Given the description of an element on the screen output the (x, y) to click on. 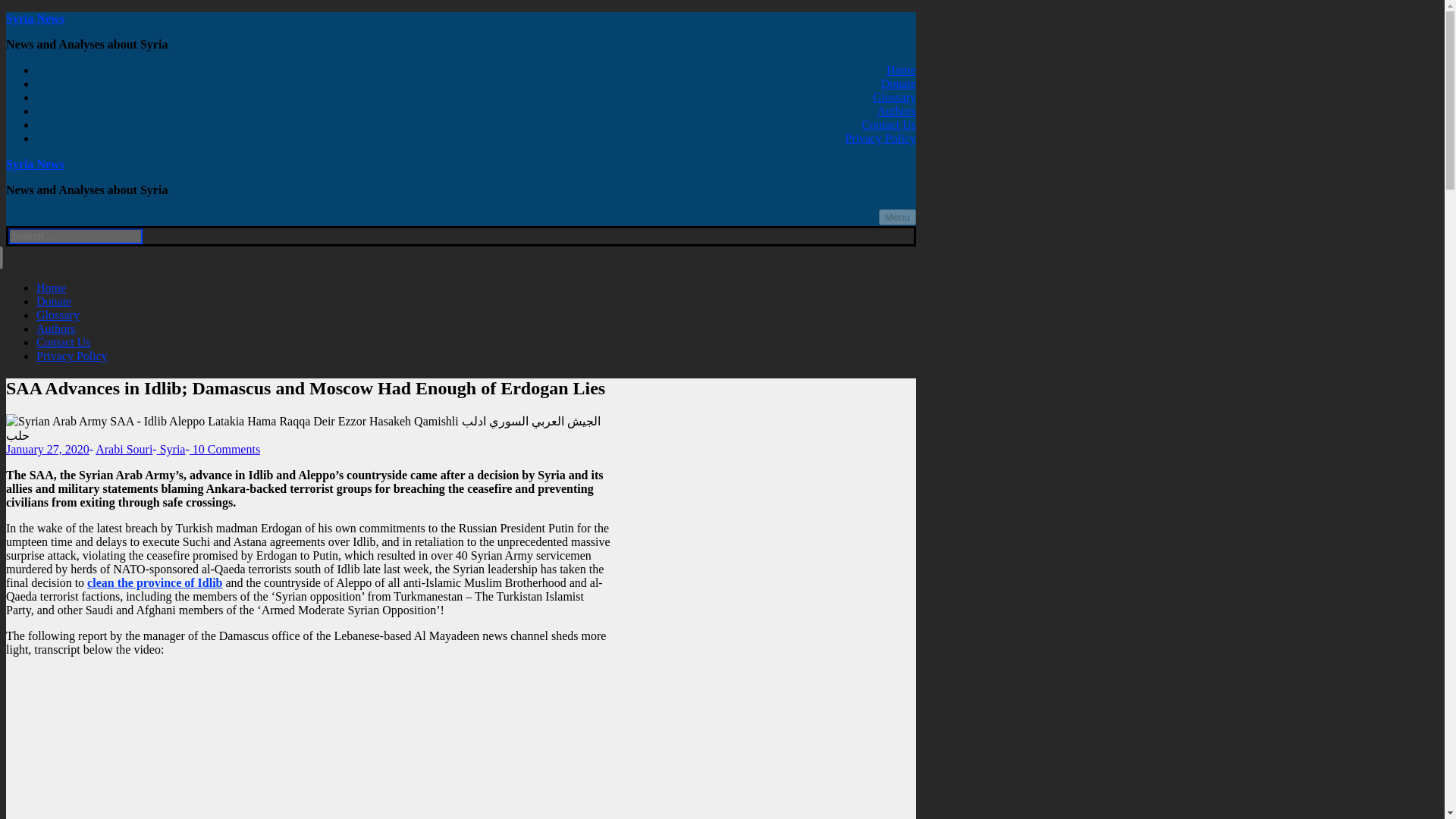
Authors (895, 110)
Contact Us (63, 341)
SAA Military Operation to Clean Idlib and Aleppo from Terror (308, 744)
Glossary (893, 97)
Privacy Policy (879, 137)
Glossary (58, 314)
Privacy Policy (71, 355)
Syria (171, 449)
Home (50, 287)
